Given the description of an element on the screen output the (x, y) to click on. 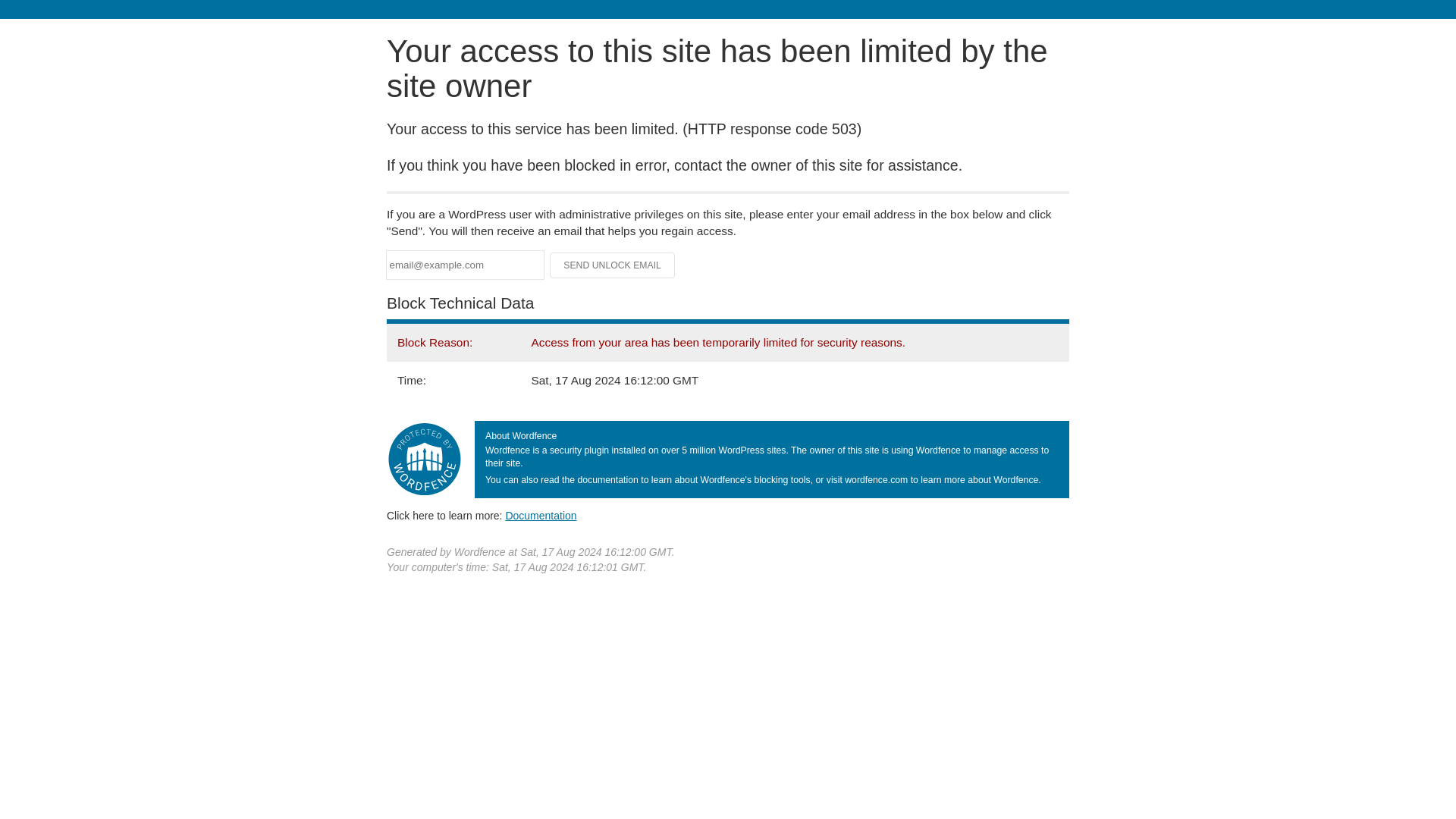
Send Unlock Email (612, 265)
Documentation (540, 515)
Send Unlock Email (612, 265)
